Given the description of an element on the screen output the (x, y) to click on. 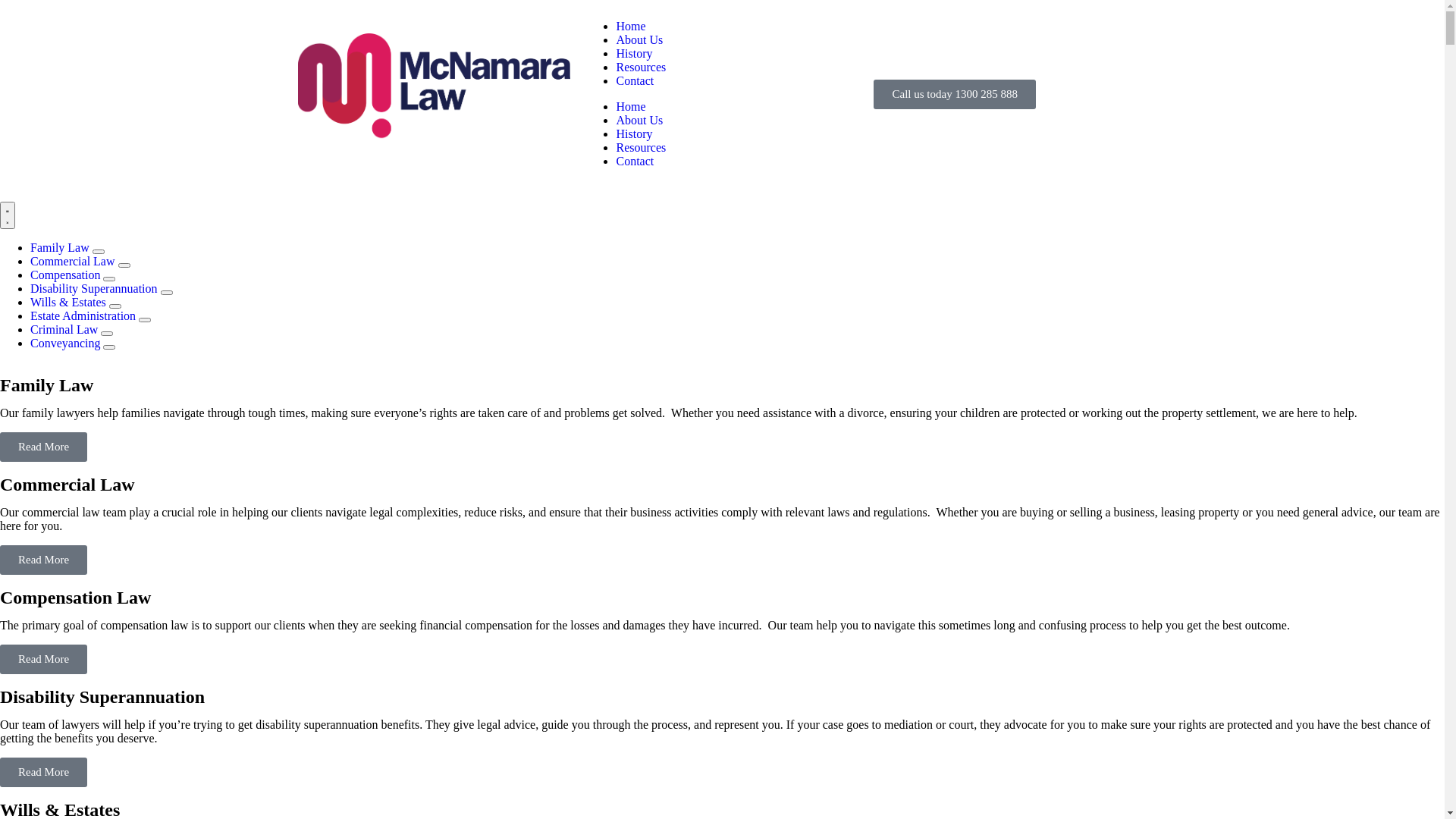
Conveyancing Element type: text (66, 342)
Contact Element type: text (634, 160)
Contact Element type: text (634, 80)
Read More Element type: text (43, 446)
Compensation Element type: text (66, 274)
Home Element type: text (630, 106)
Read More Element type: text (43, 772)
Home Element type: text (630, 25)
About Us Element type: text (638, 119)
Estate Administration Element type: text (84, 315)
Read More Element type: text (43, 559)
Resources Element type: text (640, 66)
Family Law Element type: text (61, 247)
Wills & Estates Element type: text (69, 301)
History Element type: text (633, 133)
History Element type: text (633, 53)
About Us Element type: text (638, 39)
Commercial Law Element type: text (74, 260)
Criminal Law Element type: text (65, 329)
Call us today 1300 285 888 Element type: text (954, 93)
Disability Superannuation Element type: text (95, 288)
Resources Element type: text (640, 147)
Read More Element type: text (43, 659)
